Given the description of an element on the screen output the (x, y) to click on. 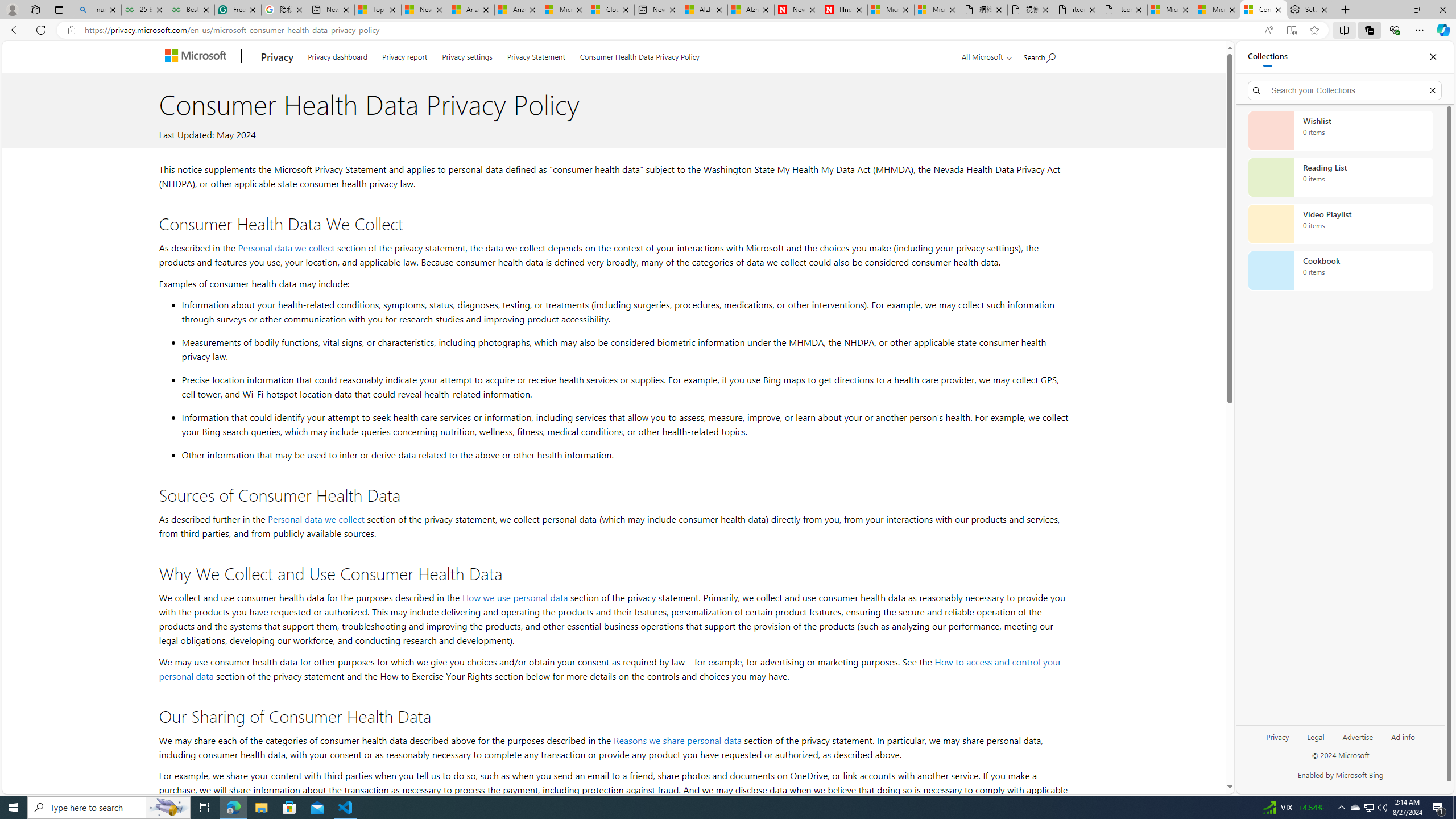
Wishlist collection, 0 items (1339, 130)
Ad info (1402, 736)
Search Microsoft.com (1039, 54)
Cookbook collection, 0 items (1339, 270)
itconcepthk.com/projector_solutions.mp4 (1123, 9)
How to access and control your personal data (609, 668)
Consumer Health Data Privacy Policy (1263, 9)
Reading List collection, 0 items (1339, 177)
